Given the description of an element on the screen output the (x, y) to click on. 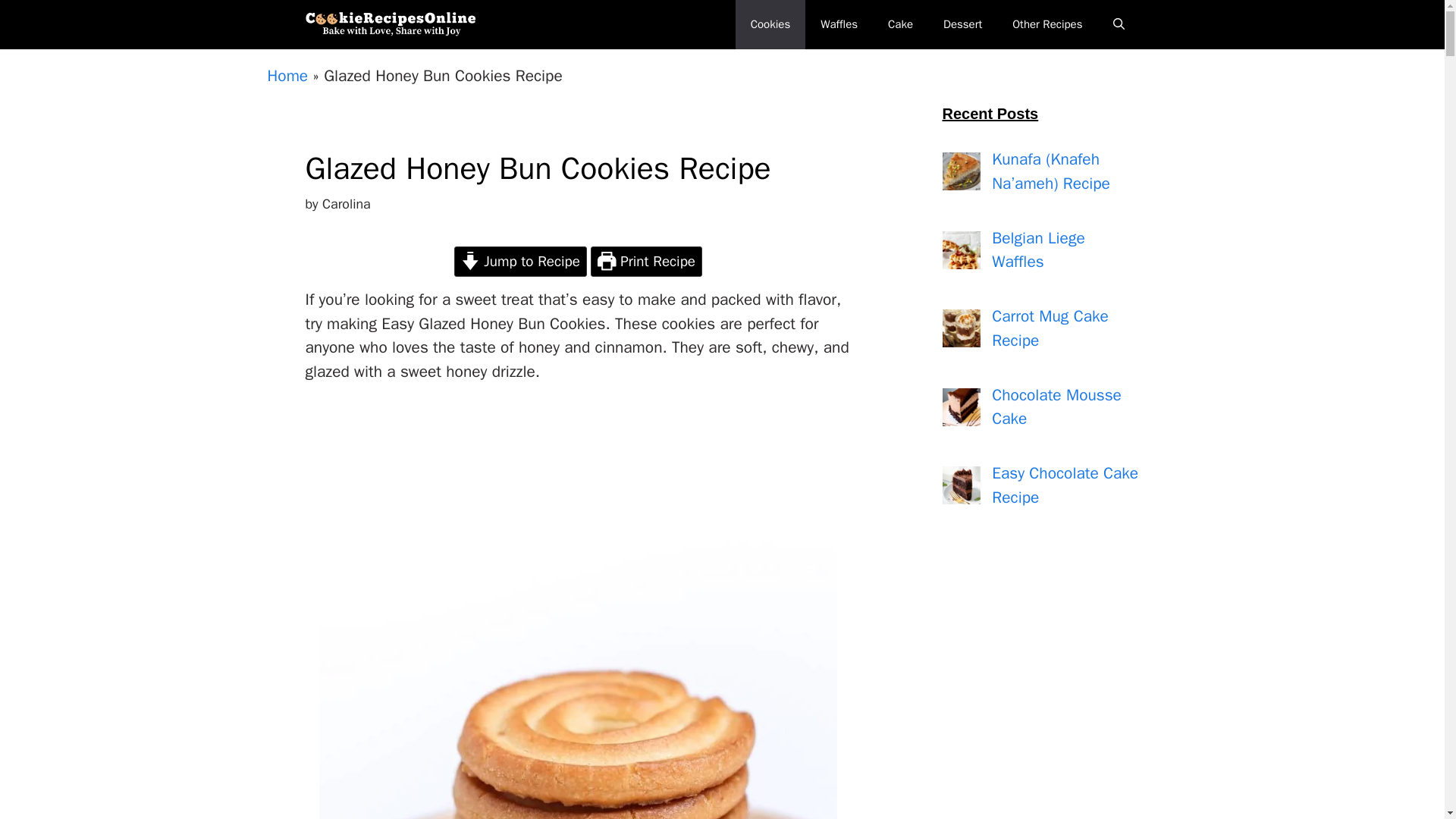
Chocolate Mousse Cake (1056, 406)
Cookies (770, 24)
Carolina (346, 203)
Belgian Liege Waffles (1037, 249)
Easy Chocolate Cake Recipe (1064, 484)
Home (286, 75)
Print Recipe (646, 261)
Other Recipes (1047, 24)
Jump to Recipe (520, 261)
View all posts by Carolina (346, 203)
